Given the description of an element on the screen output the (x, y) to click on. 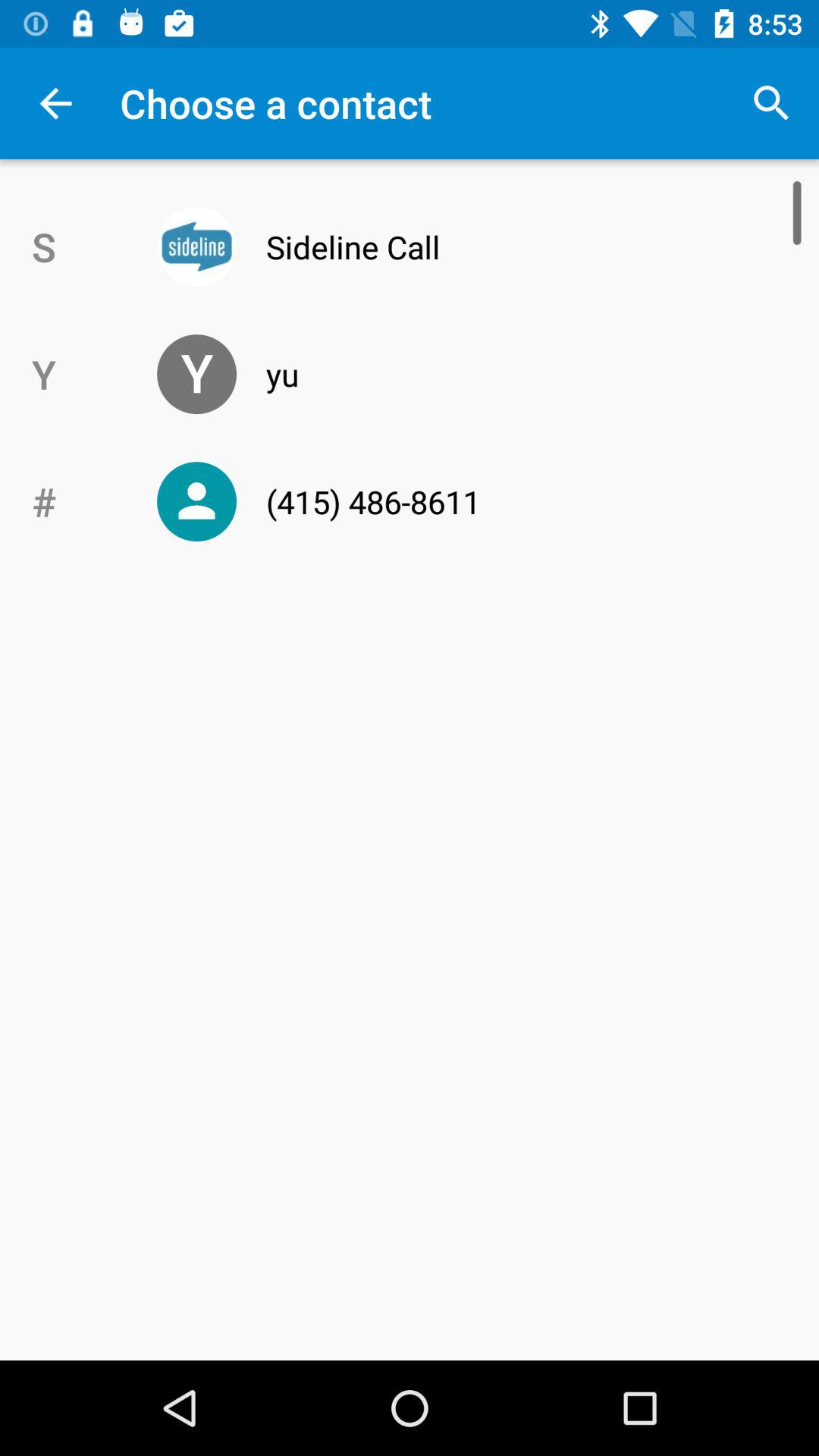
launch the app to the right of choose a contact item (771, 103)
